Given the description of an element on the screen output the (x, y) to click on. 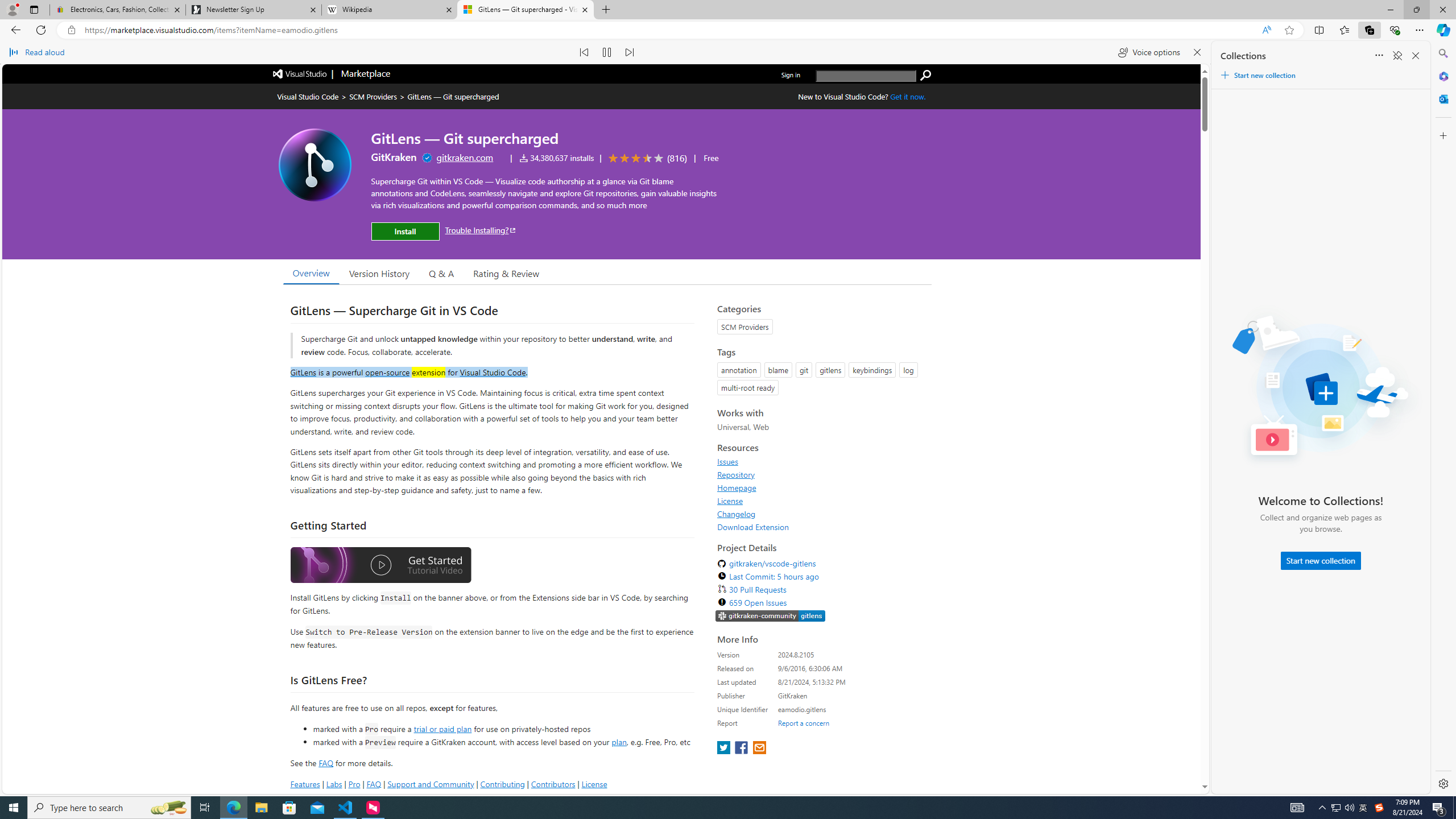
Repository (735, 474)
License (729, 500)
Repository (820, 474)
Download Extension (753, 526)
Sort (1379, 55)
Pause read aloud (Ctrl+Shift+U) (606, 52)
Labs (334, 783)
trial or paid plan (442, 728)
